Given the description of an element on the screen output the (x, y) to click on. 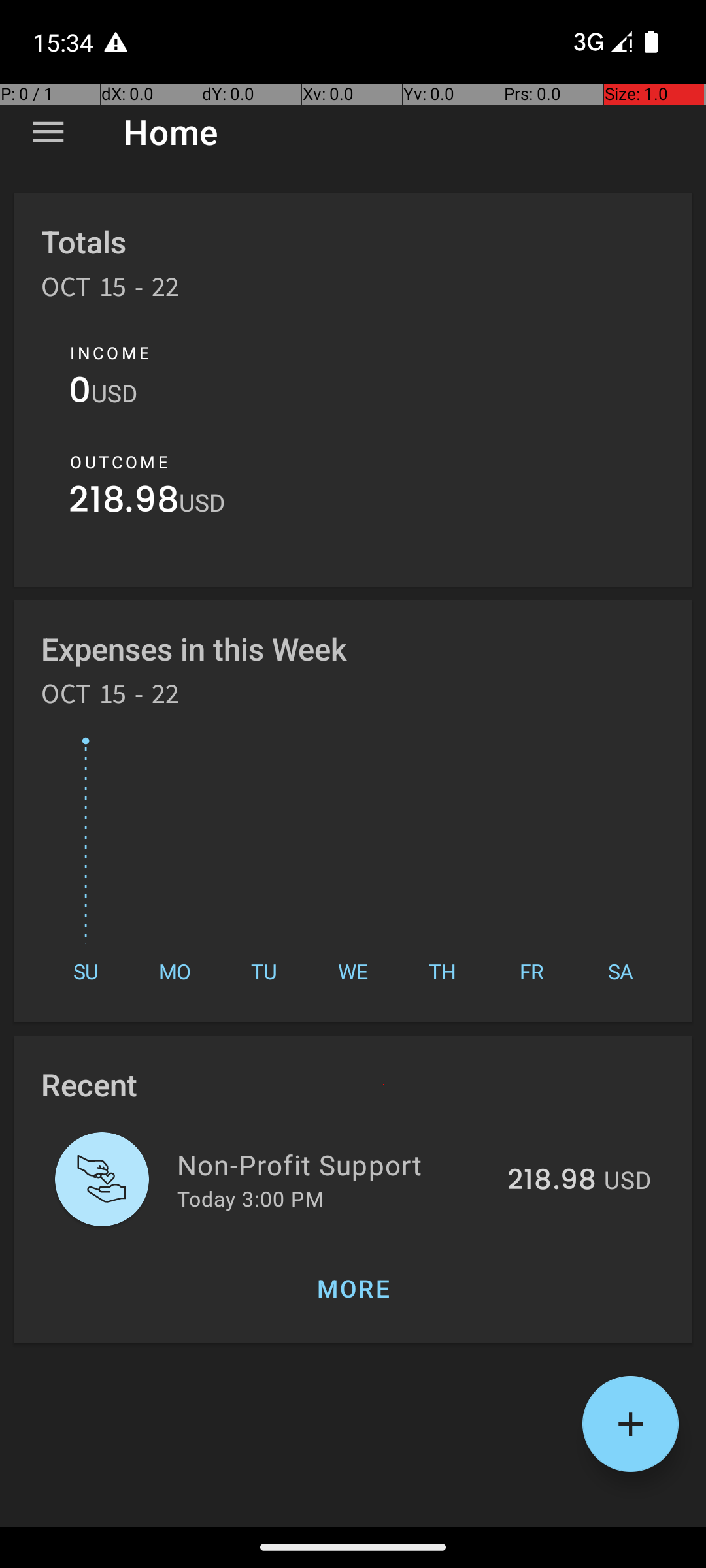
218.98 Element type: android.widget.TextView (123, 502)
MORE Element type: android.widget.Button (352, 1288)
Non-Profit Support Element type: android.widget.TextView (334, 1164)
Today 3:00 PM Element type: android.widget.TextView (250, 1198)
